Given the description of an element on the screen output the (x, y) to click on. 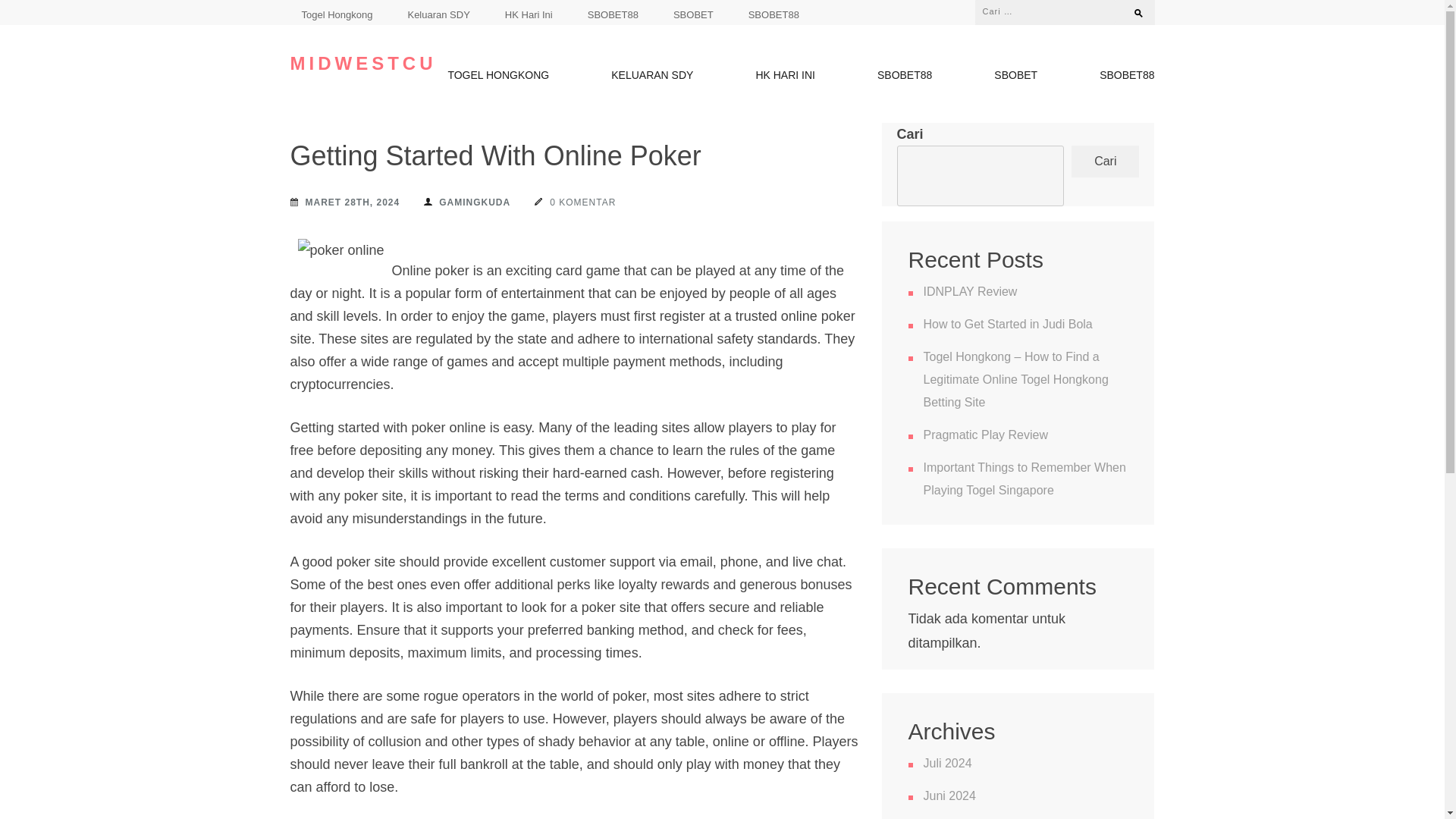
SBOBET88 (904, 78)
Cari (1131, 9)
Cari (1131, 9)
Keluaran SDY (437, 14)
MIDWESTCU (362, 63)
Cari (1131, 9)
MARET 28TH, 2024 (343, 201)
How to Get Started in Judi Bola (1008, 323)
SBOBET88 (613, 14)
SBOBET88 (1126, 78)
HK HARI INI (785, 78)
TOGEL HONGKONG (497, 78)
SBOBET (692, 14)
HK Hari Ini (529, 14)
GAMINGKUDA (467, 201)
